Given the description of an element on the screen output the (x, y) to click on. 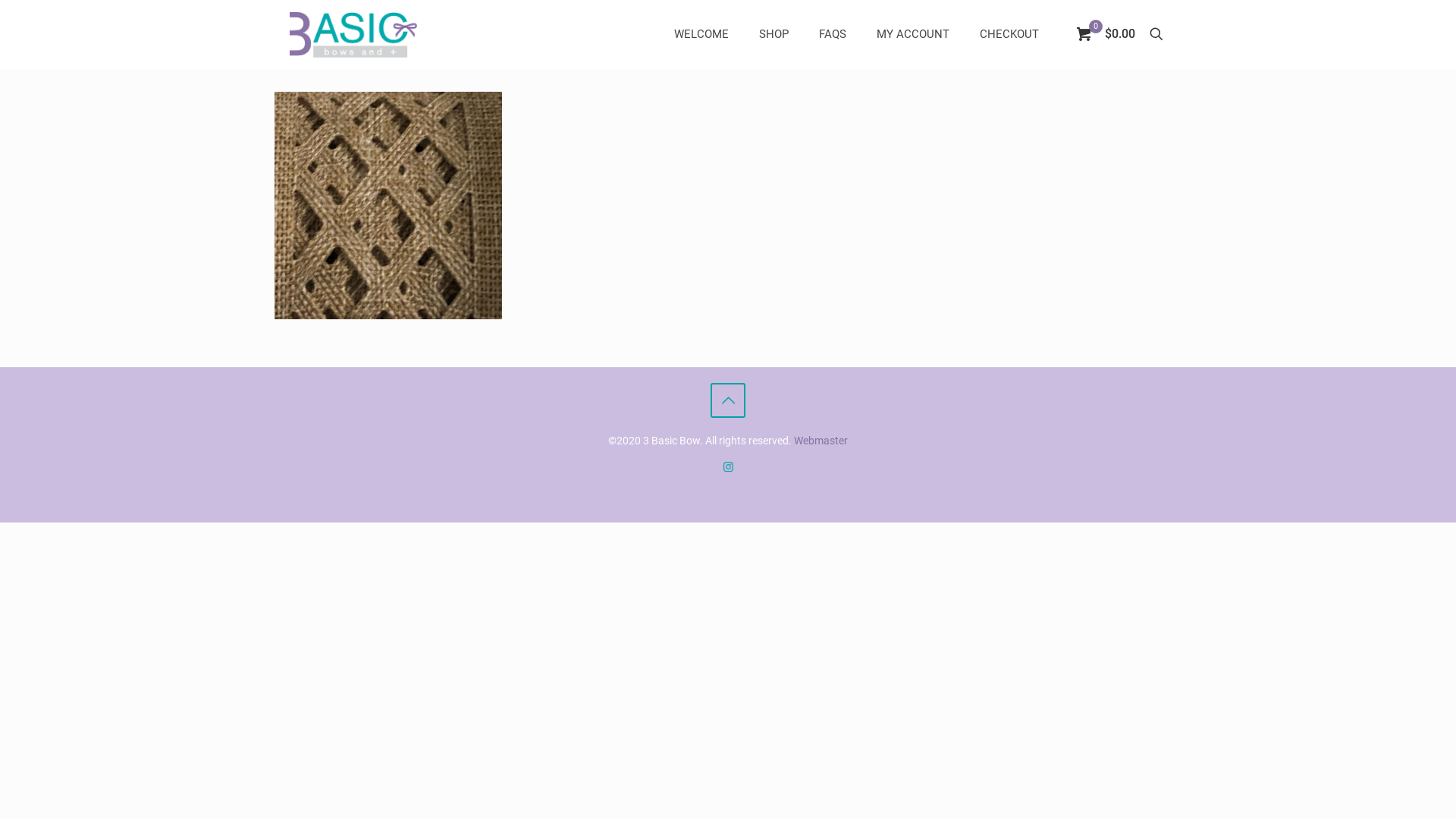
Instagram Element type: hover (728, 466)
Webmaster Element type: text (820, 440)
WELCOME Element type: text (700, 34)
SHOP Element type: text (773, 34)
CHECKOUT Element type: text (1009, 34)
MY ACCOUNT Element type: text (912, 34)
FAQS Element type: text (832, 34)
0
$0.00 Element type: text (1106, 33)
3 Basic Bow Element type: hover (353, 34)
